Given the description of an element on the screen output the (x, y) to click on. 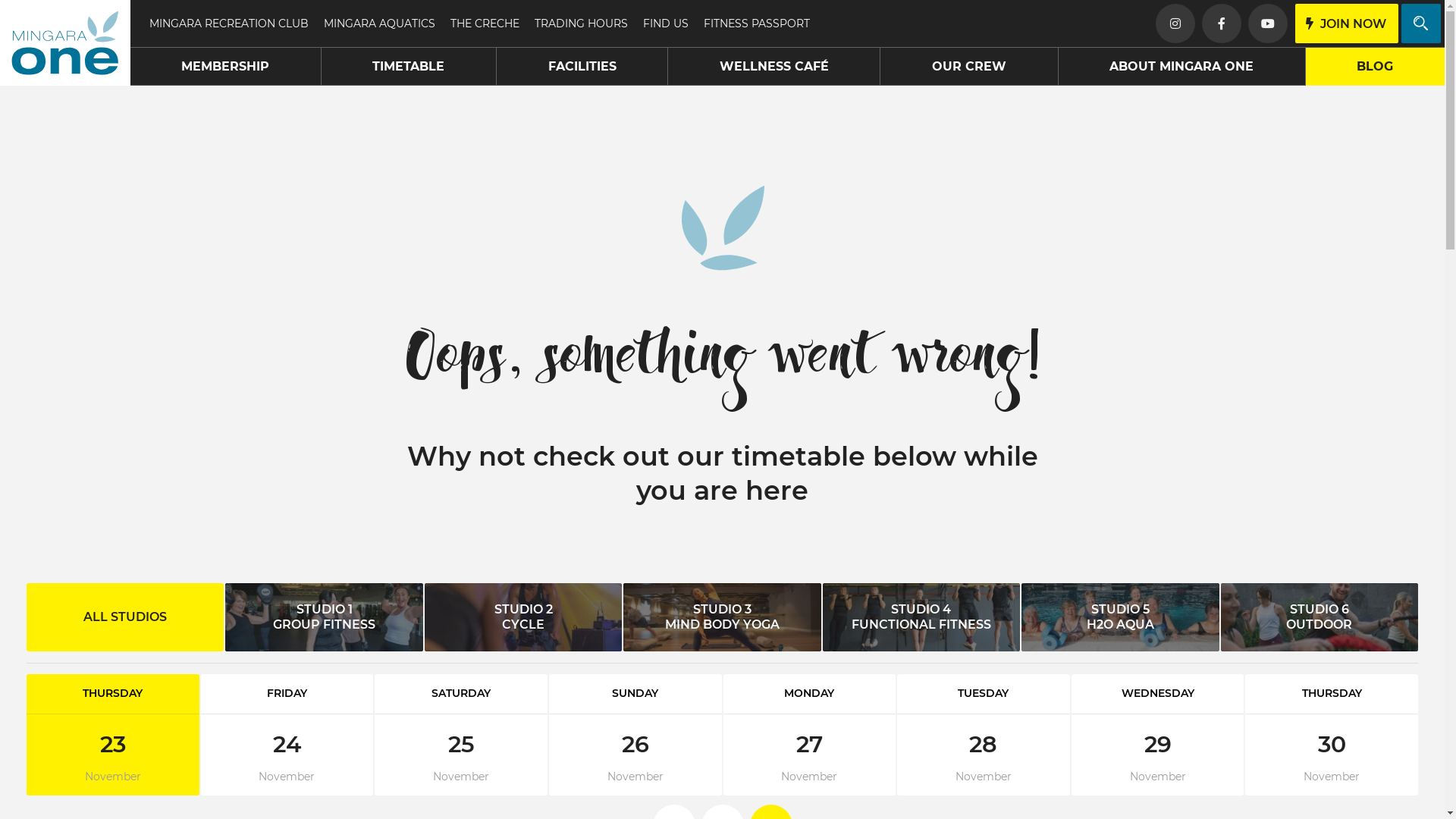
FACILITIES Element type: text (582, 66)
JOIN NOW Element type: text (1346, 23)
FIND US Element type: text (665, 23)
ALL STUDIOS Element type: text (124, 617)
MINGARA AQUATICS Element type: text (378, 23)
ABOUT MINGARA ONE Element type: text (1181, 66)
BLOG Element type: text (1374, 66)
FRIDAY
24
November Element type: text (286, 734)
FITNESS PASSPORT Element type: text (756, 23)
TRADING HOURS Element type: text (580, 23)
SATURDAY
25
November Element type: text (460, 734)
MONDAY
27
November Element type: text (809, 734)
STUDIO 2
CYCLE Element type: text (522, 617)
WEDNESDAY
29
November Element type: text (1157, 734)
THURSDAY
30
November Element type: text (1331, 734)
STUDIO 6
OUTDOOR Element type: text (1319, 617)
STUDIO 1
GROUP FITNESS Element type: text (323, 617)
MEMBERSHIP Element type: text (225, 66)
STUDIO 4
FUNCTIONAL FITNESS Element type: text (920, 617)
STUDIO 3
MIND BODY YOGA Element type: text (721, 617)
TIMETABLE Element type: text (408, 66)
STUDIO 5
H2O AQUA Element type: text (1119, 617)
SUNDAY
26
November Element type: text (635, 734)
OUR CREW Element type: text (968, 66)
THURSDAY
23
November Element type: text (112, 734)
THE CRECHE Element type: text (484, 23)
TUESDAY
28
November Element type: text (983, 734)
MINGARA RECREATION CLUB Element type: text (227, 23)
